Given the description of an element on the screen output the (x, y) to click on. 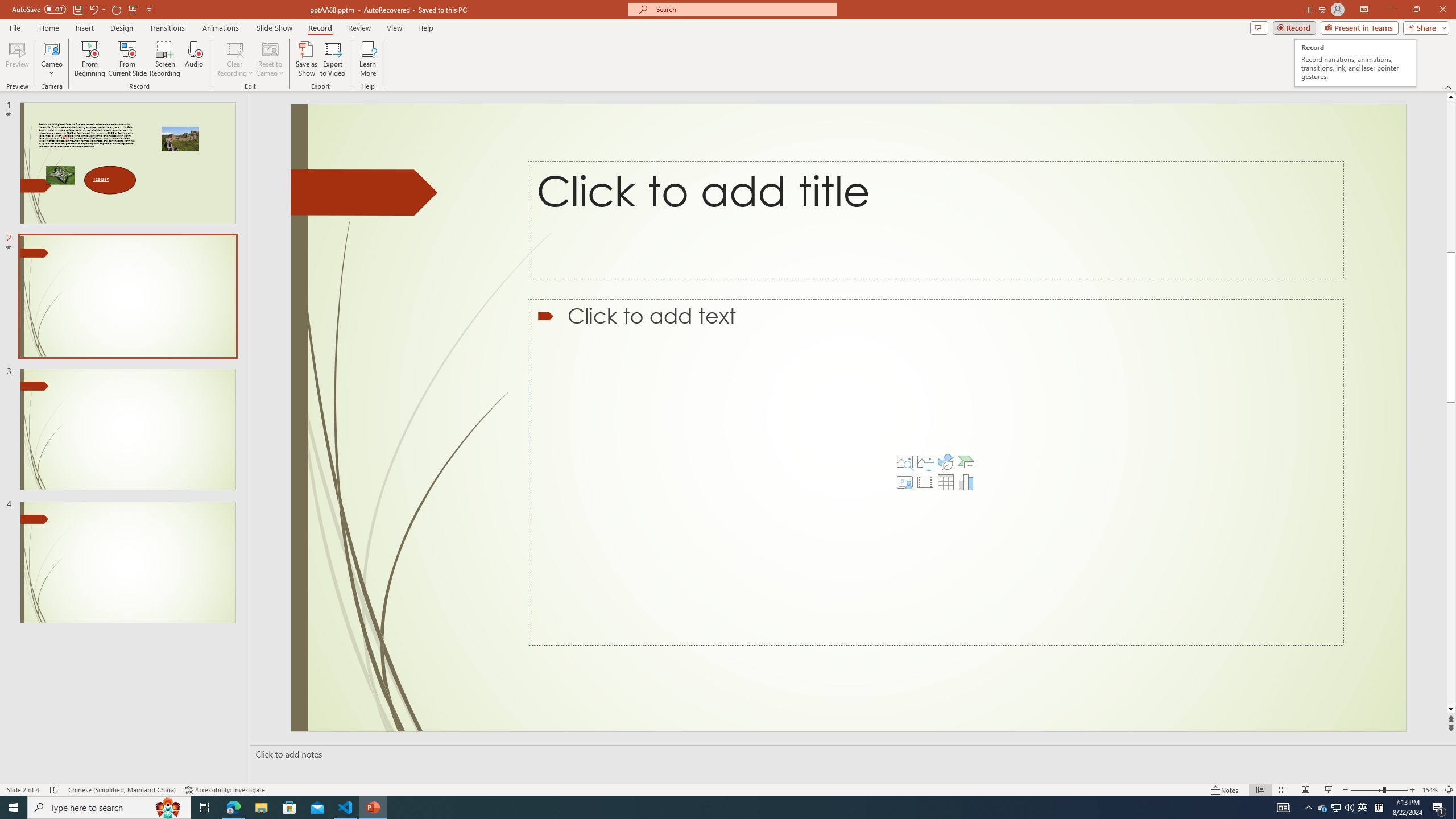
Insert a SmartArt Graphic (965, 461)
Stock Images (904, 461)
